Given the description of an element on the screen output the (x, y) to click on. 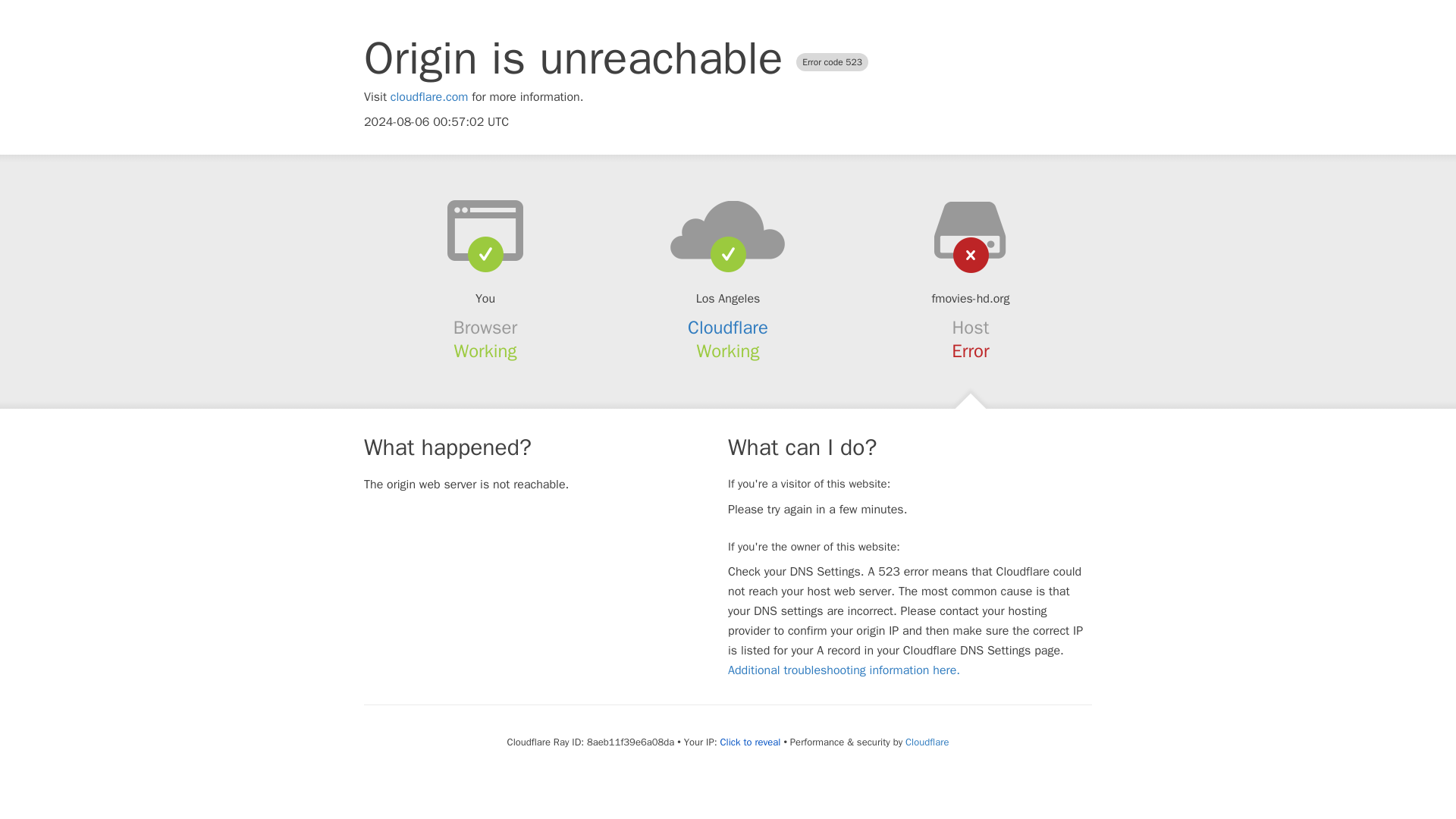
cloudflare.com (429, 96)
Click to reveal (750, 742)
Cloudflare (727, 327)
Additional troubleshooting information here. (843, 670)
Cloudflare (927, 741)
